Given the description of an element on the screen output the (x, y) to click on. 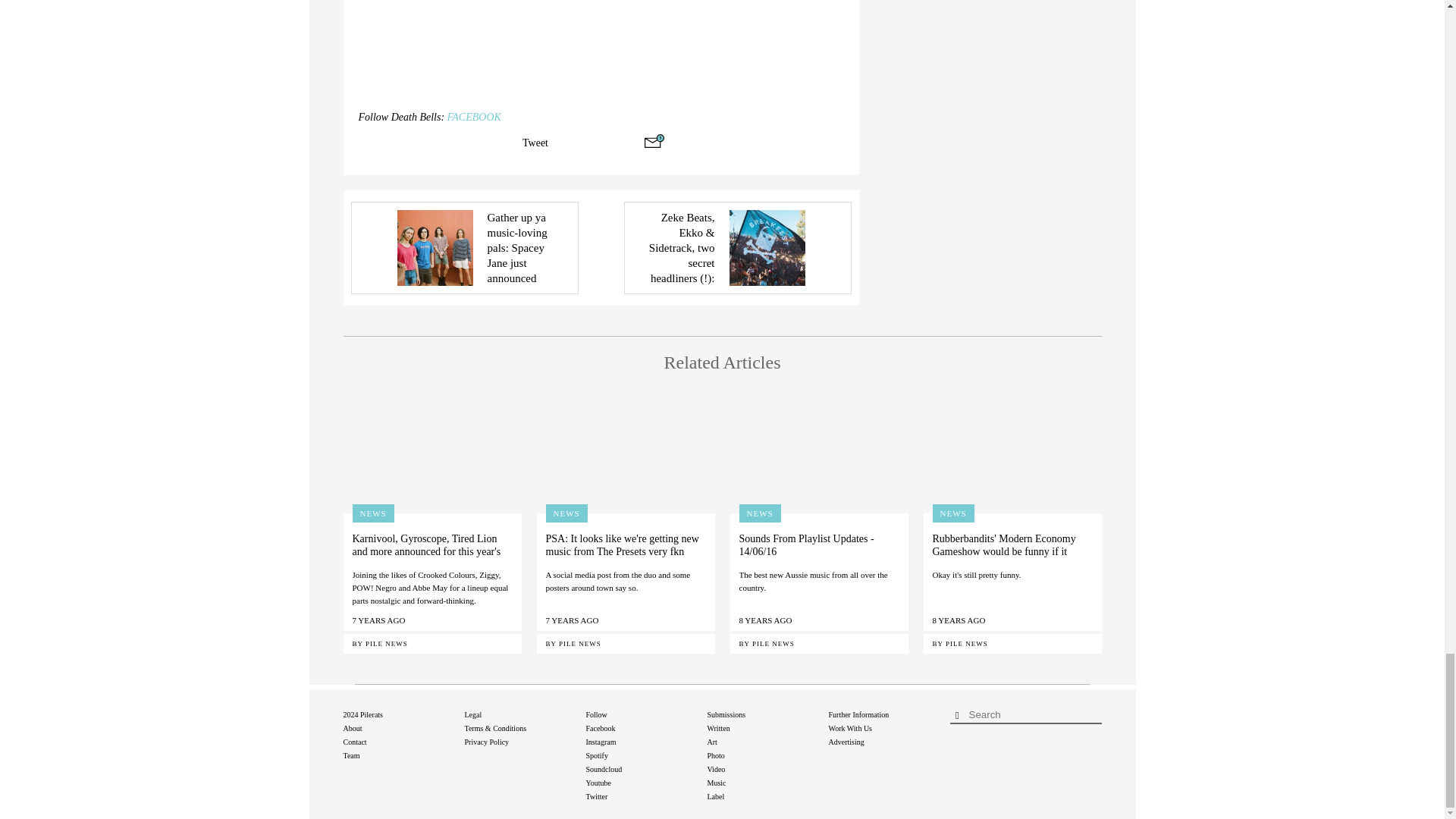
Share via email (654, 141)
